Given the description of an element on the screen output the (x, y) to click on. 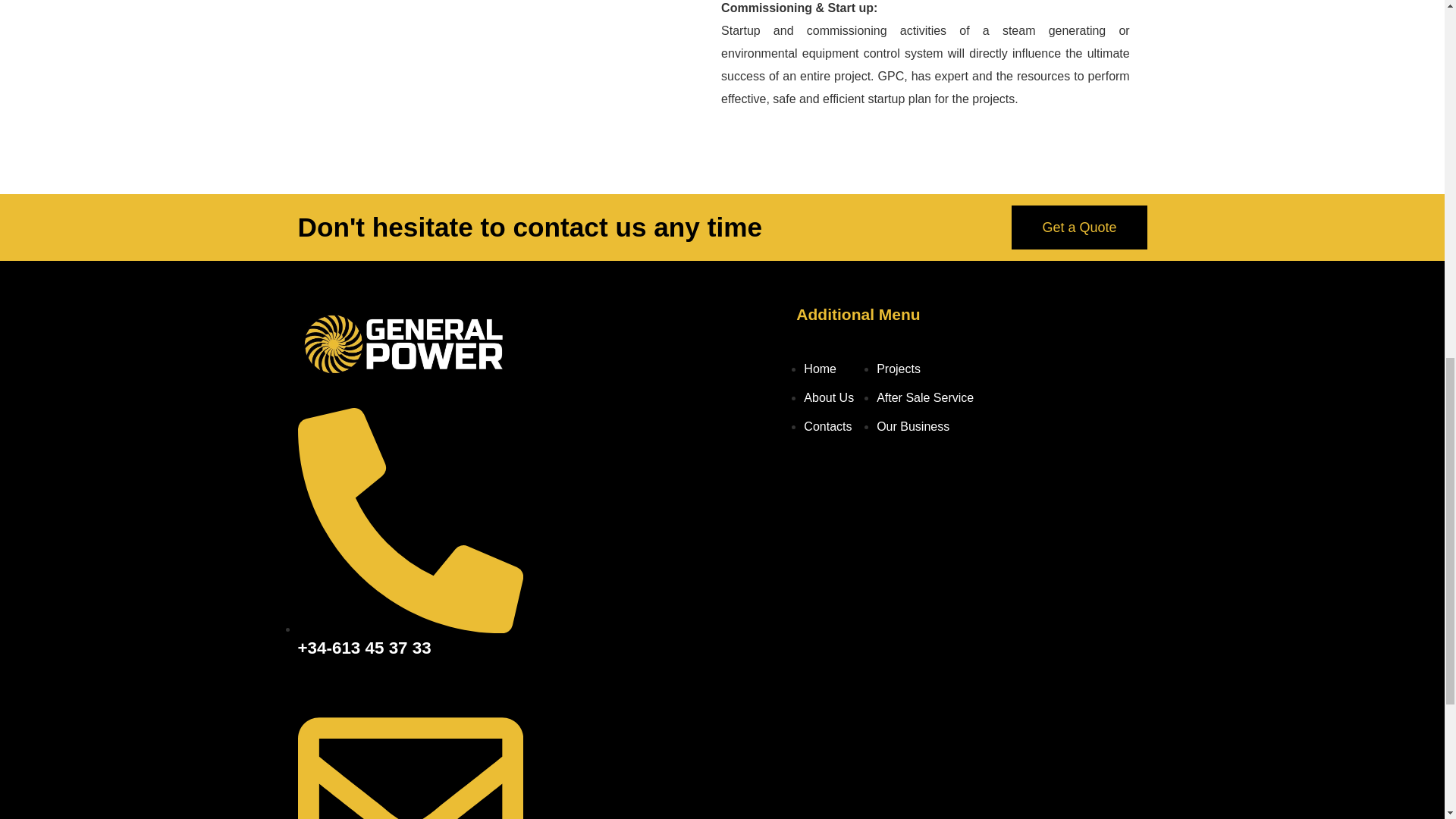
Home (819, 368)
About Us (828, 397)
Projects (898, 368)
Our Business (912, 426)
Get a Quote (1079, 227)
After Sale Service (925, 397)
Contacts (827, 426)
